Given the description of an element on the screen output the (x, y) to click on. 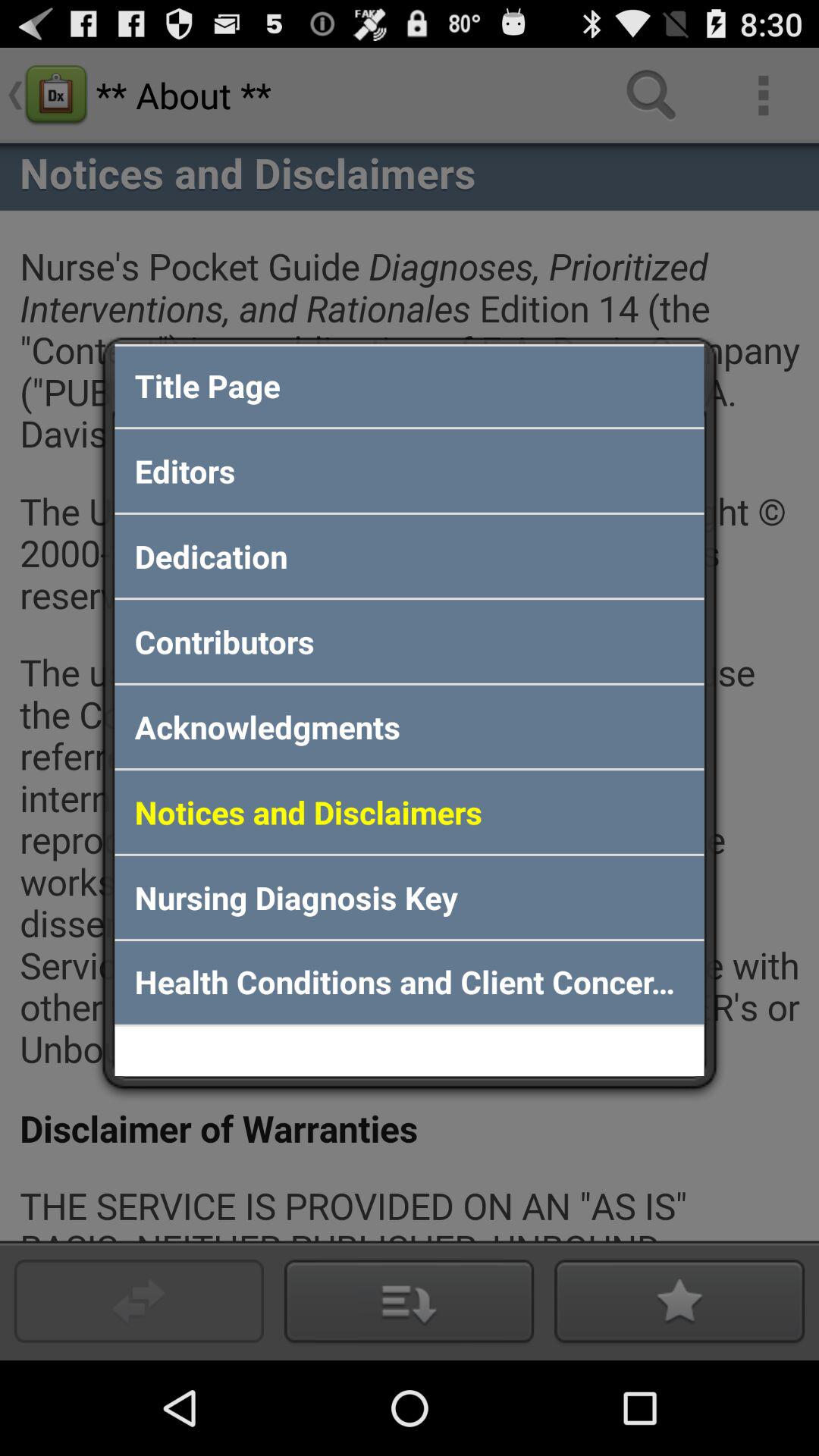
click app above nursing diagnosis key item (409, 811)
